Given the description of an element on the screen output the (x, y) to click on. 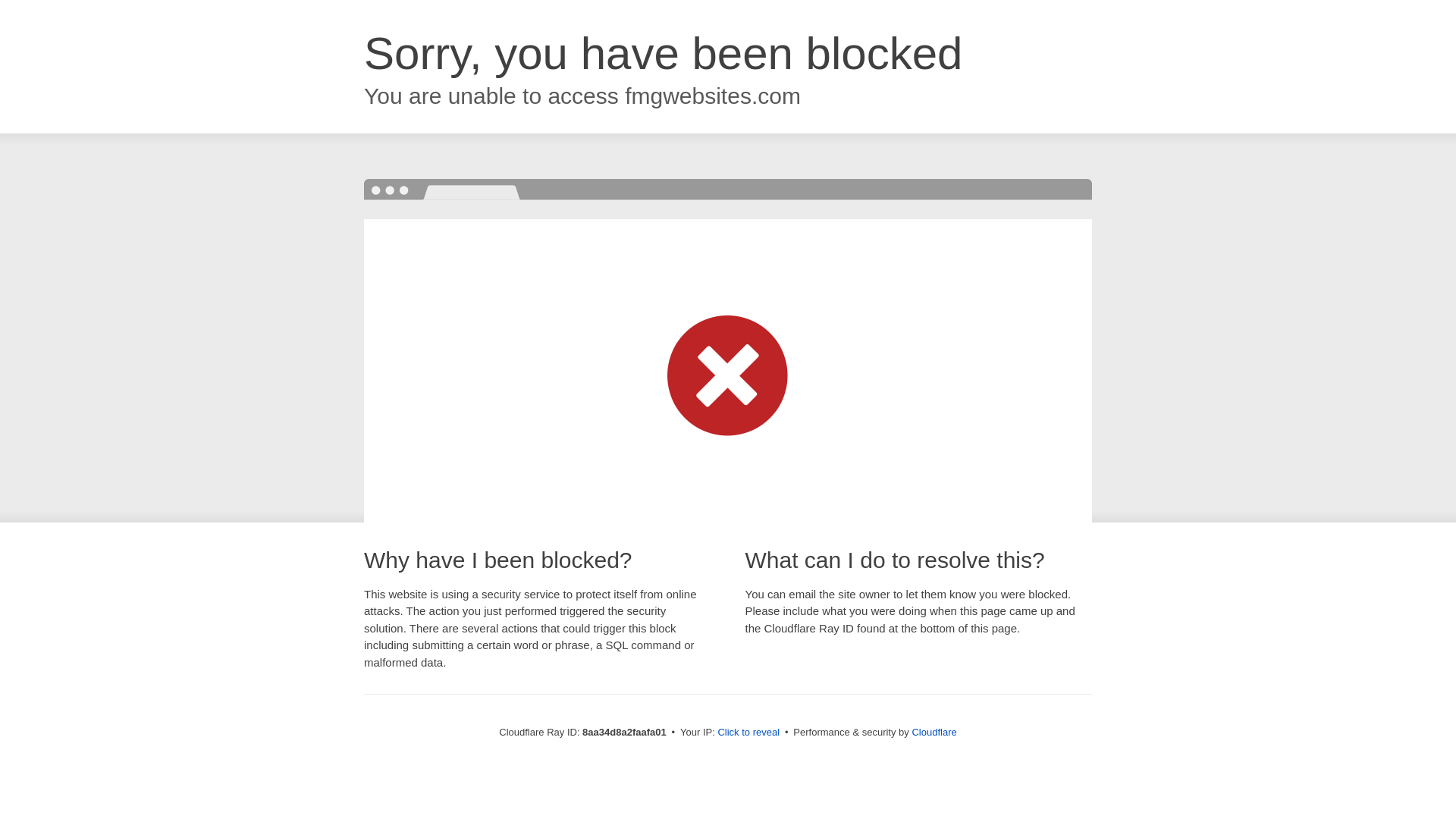
Cloudflare (933, 731)
Click to reveal (747, 732)
